Given the description of an element on the screen output the (x, y) to click on. 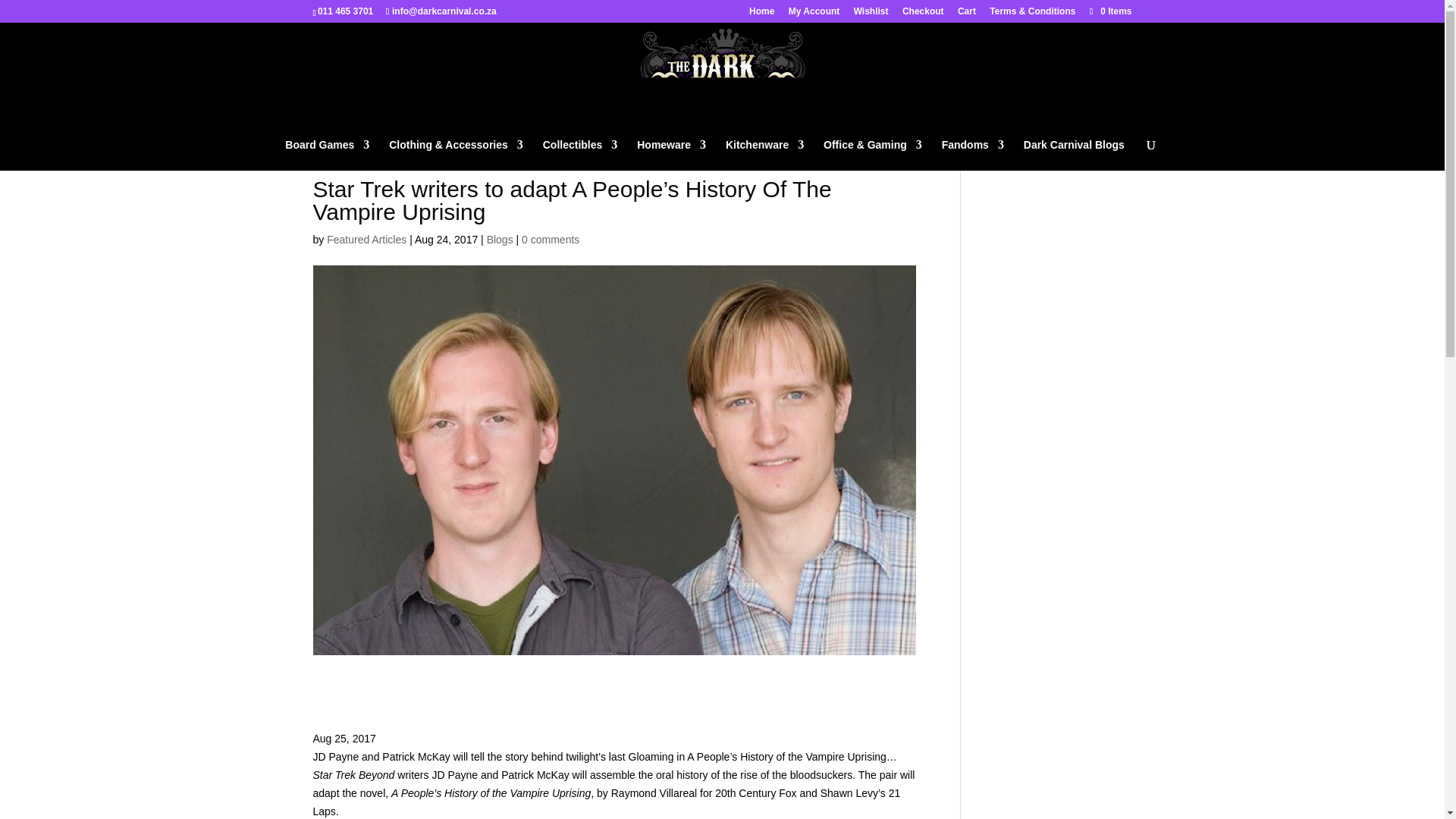
Cart (966, 14)
Checkout (922, 14)
My Account (814, 14)
Wishlist (870, 14)
0 Items (1108, 10)
Homeware (671, 154)
Home (761, 14)
Posts by Featured Articles (366, 239)
Board Games (327, 154)
Collectibles (580, 154)
